Given the description of an element on the screen output the (x, y) to click on. 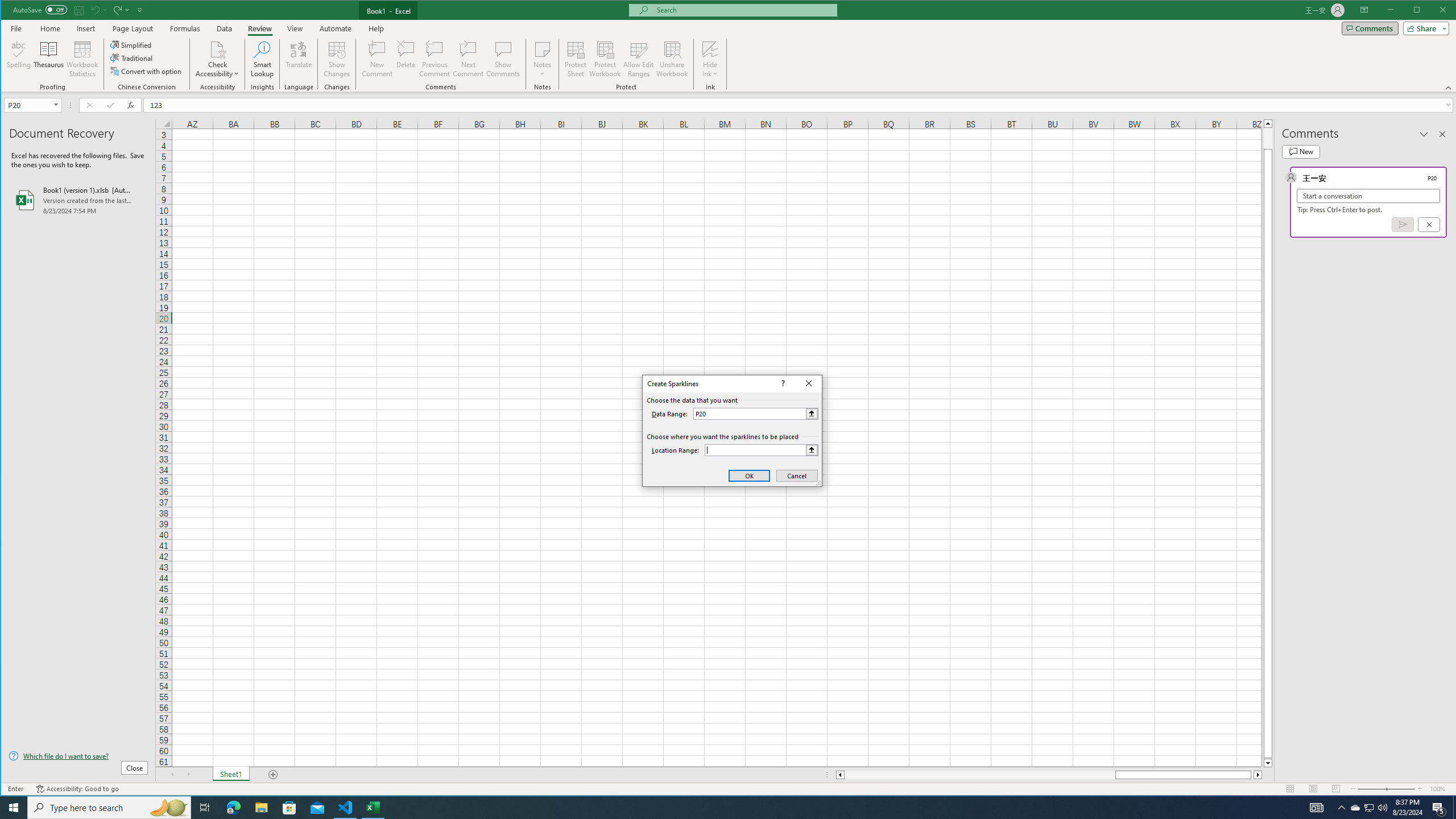
Next Comment (467, 59)
Translate (298, 59)
Check Accessibility (217, 59)
Delete (405, 59)
Q2790: 100% (1382, 807)
